Given the description of an element on the screen output the (x, y) to click on. 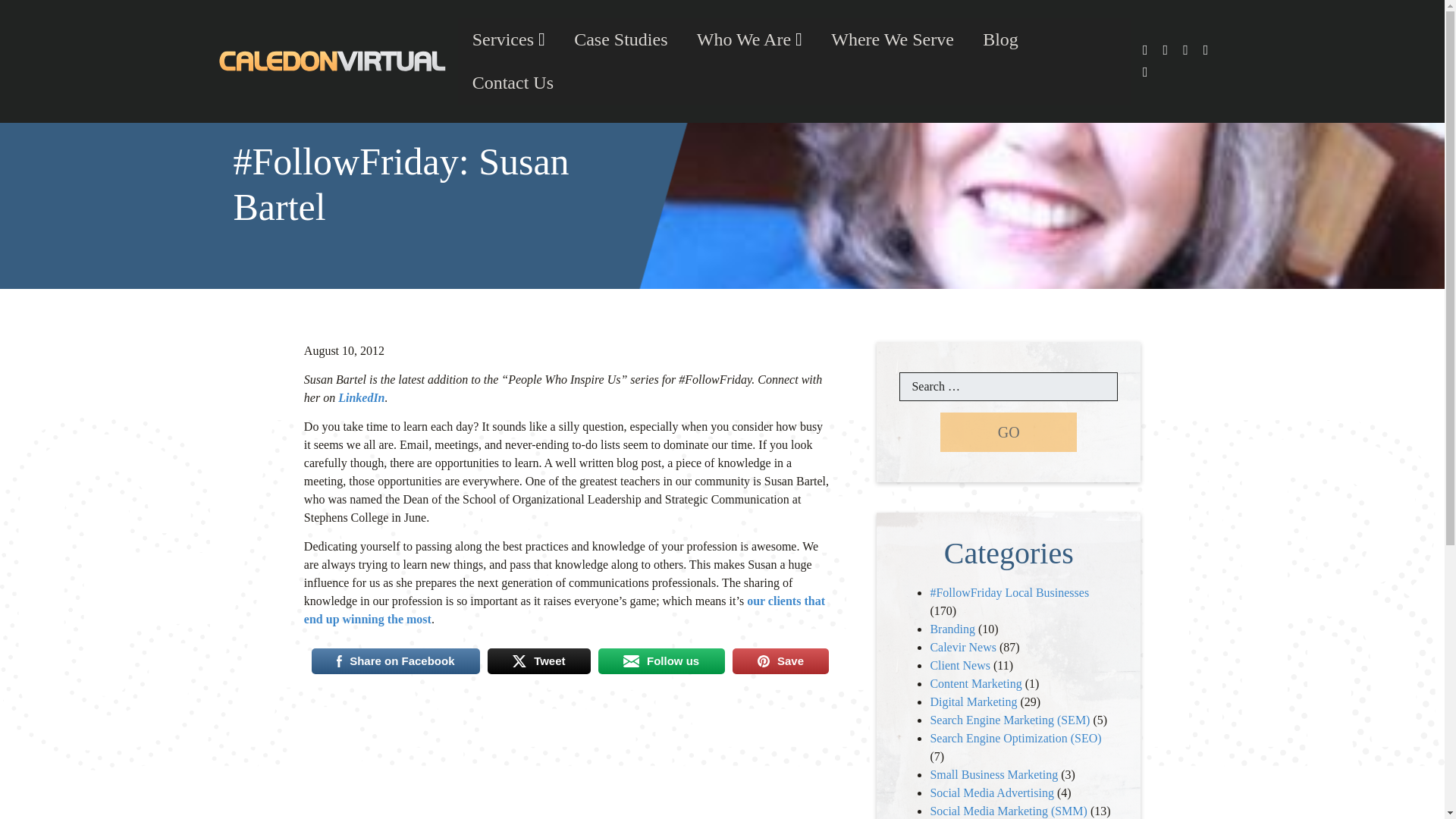
Go (1008, 432)
Services (508, 39)
Share on Facebook (395, 661)
Contact Us (513, 82)
Blog (1000, 39)
Go (1008, 432)
Case Studies (620, 39)
LinkedIn (360, 397)
our clients that end up winning the most (564, 609)
Where We Serve (892, 39)
Follow us (661, 661)
Tweet (539, 661)
Who We Are (749, 39)
